Given the description of an element on the screen output the (x, y) to click on. 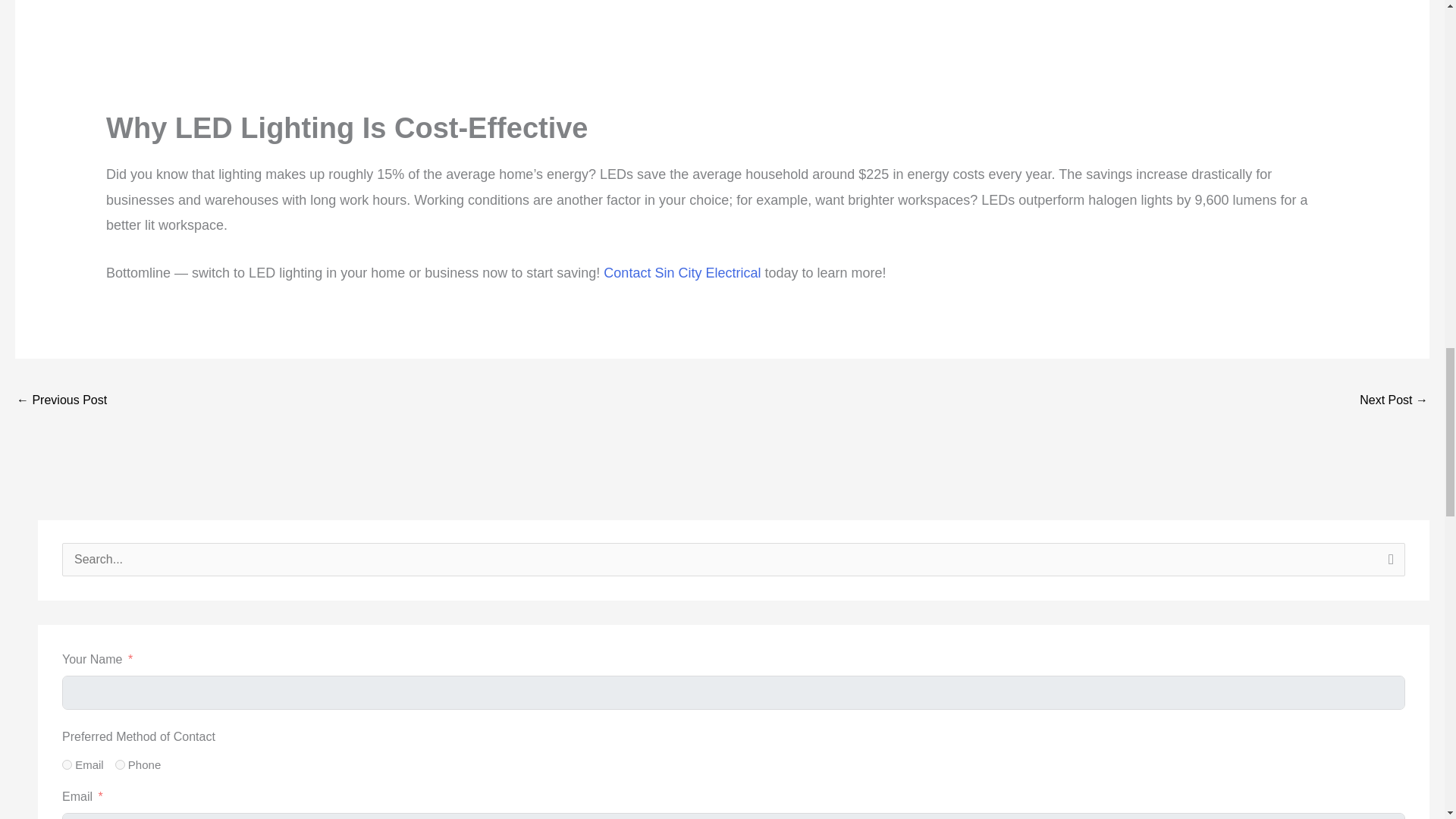
Best Places for Security Cameras: The Do's and Dont's (61, 401)
Email (66, 764)
5 First-Time Homeowner Electrical Tips (1393, 401)
Phone (120, 764)
